Given the description of an element on the screen output the (x, y) to click on. 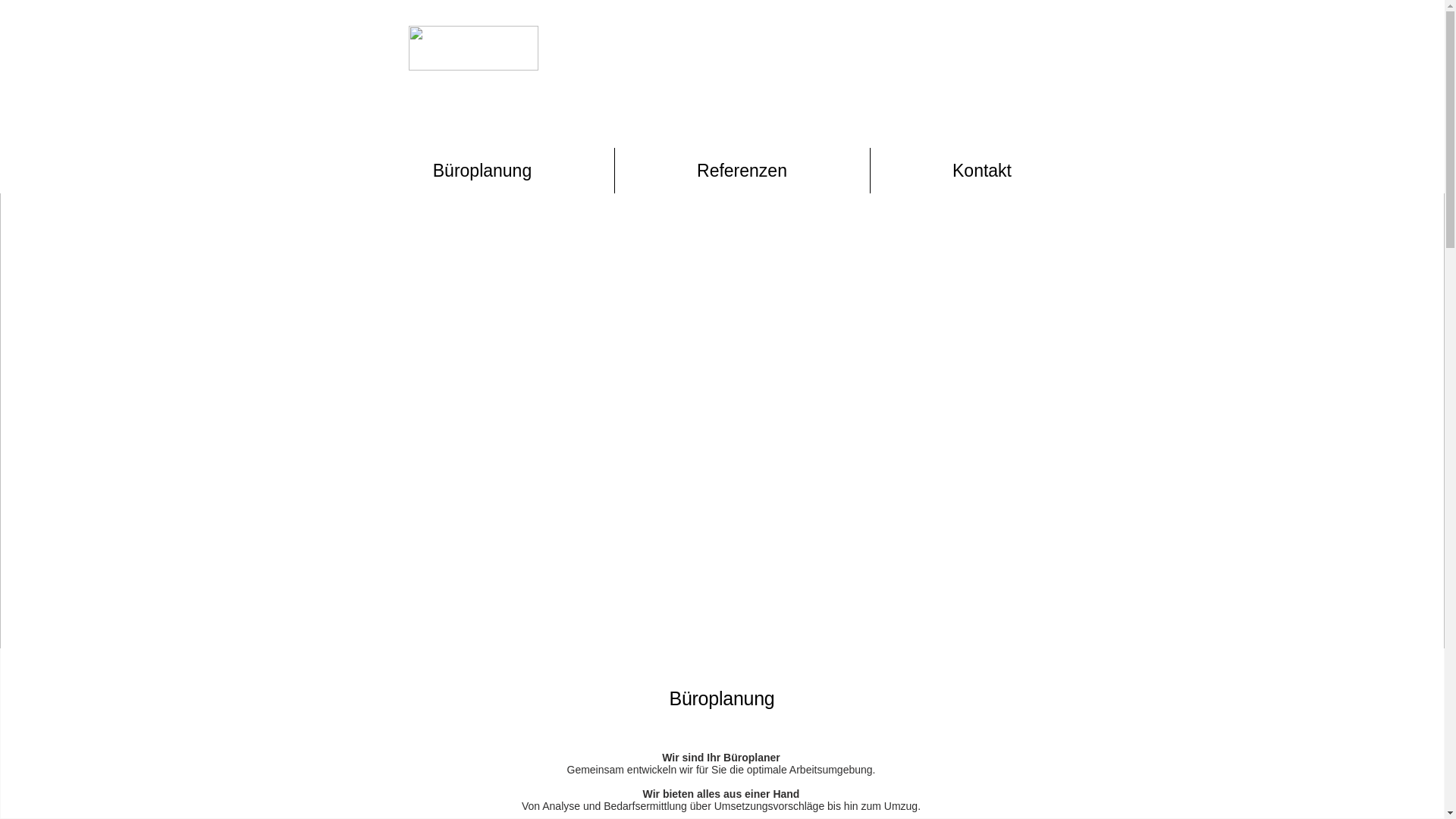
Referenzen Element type: text (741, 170)
Kontakt Element type: text (982, 170)
